Given the description of an element on the screen output the (x, y) to click on. 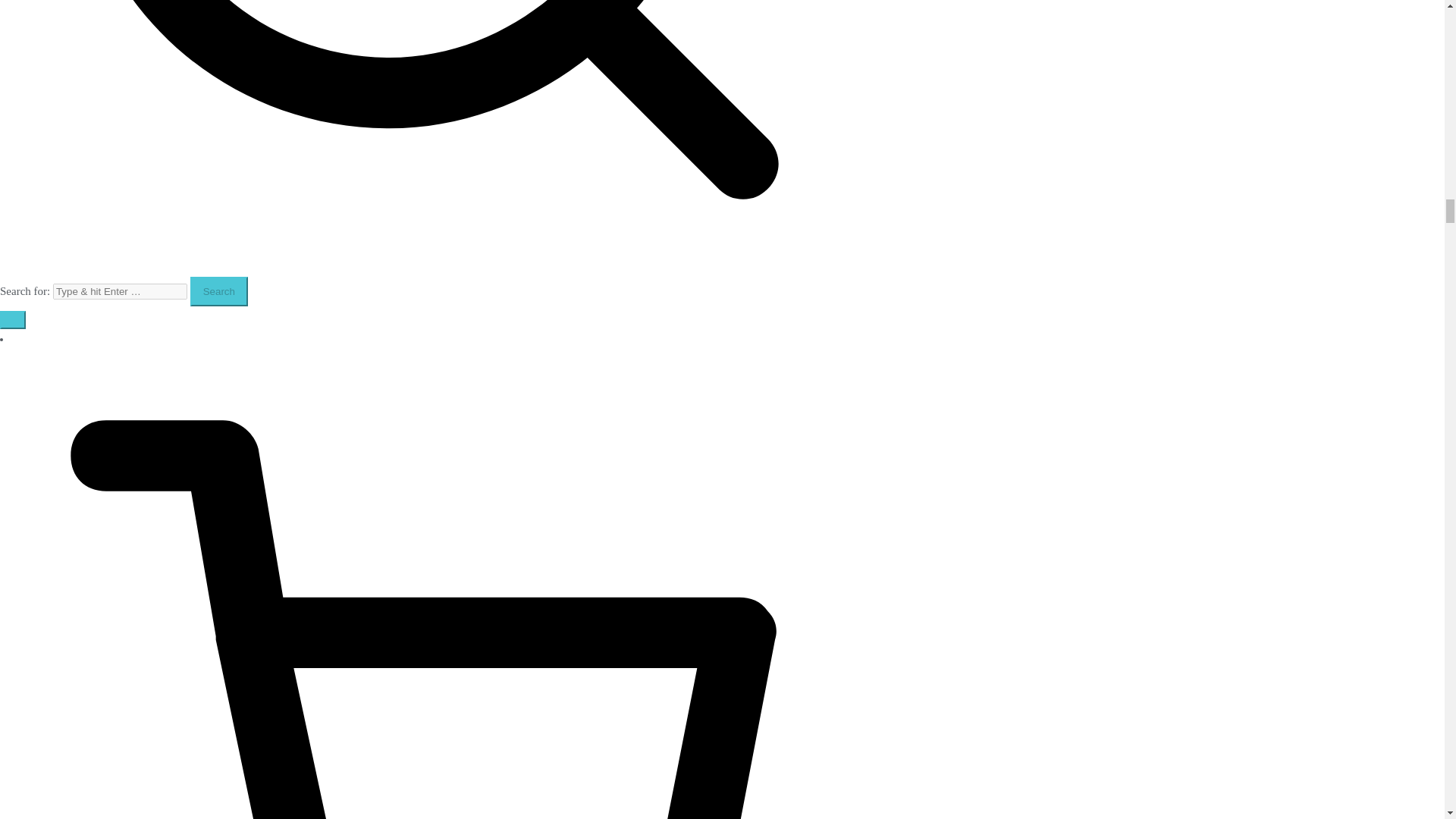
Search (218, 291)
Search for: (119, 291)
Search (218, 291)
